Given the description of an element on the screen output the (x, y) to click on. 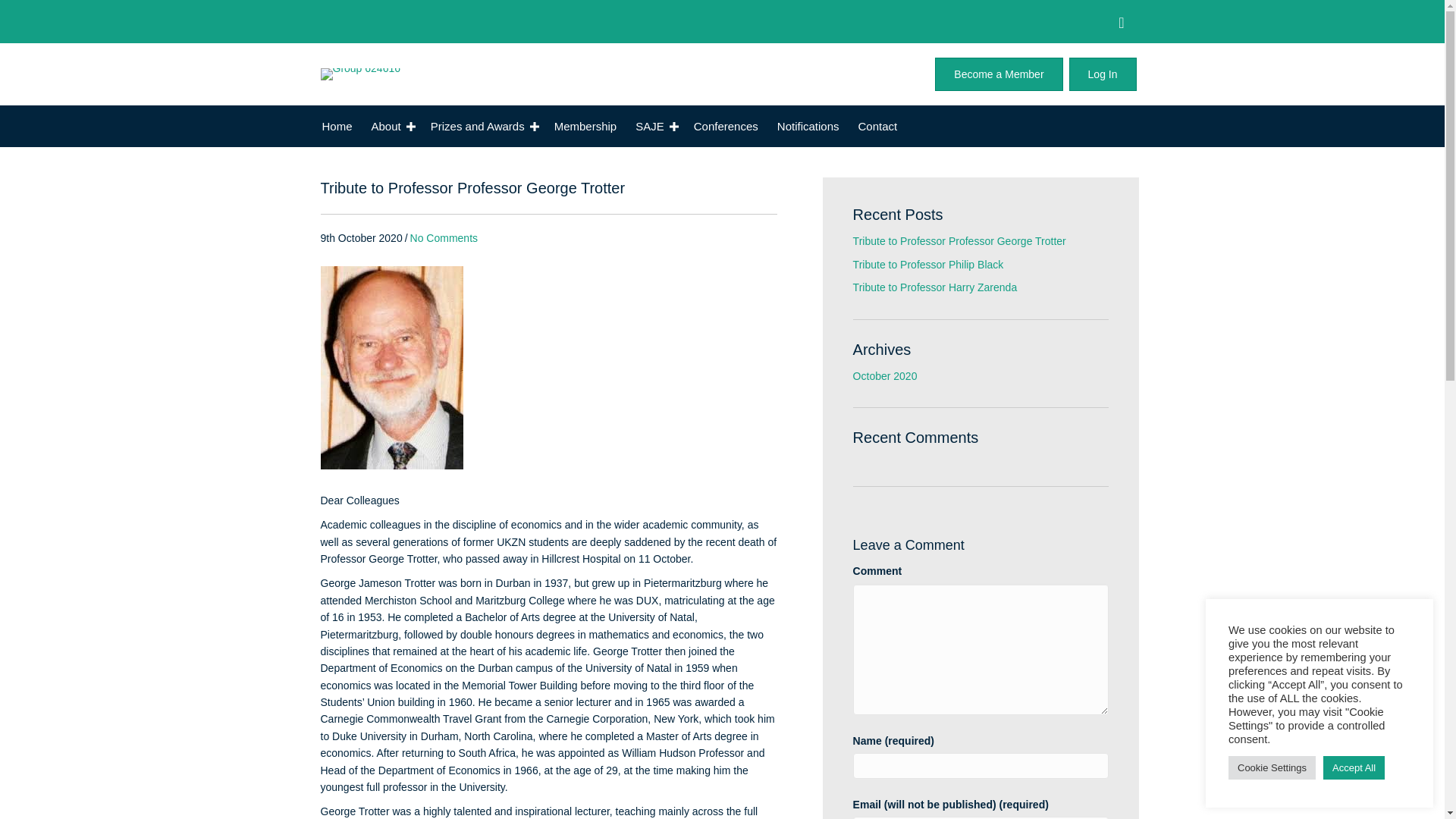
Tribute to Professor Professor George Trotter (959, 241)
Group 624616 (360, 73)
October 2020 (885, 376)
Membership (585, 126)
Tribute to Professor Philip Black (928, 264)
About (391, 126)
Conferences (725, 126)
No Comments (443, 237)
Become a Member (998, 73)
Contact (877, 126)
